Given the description of an element on the screen output the (x, y) to click on. 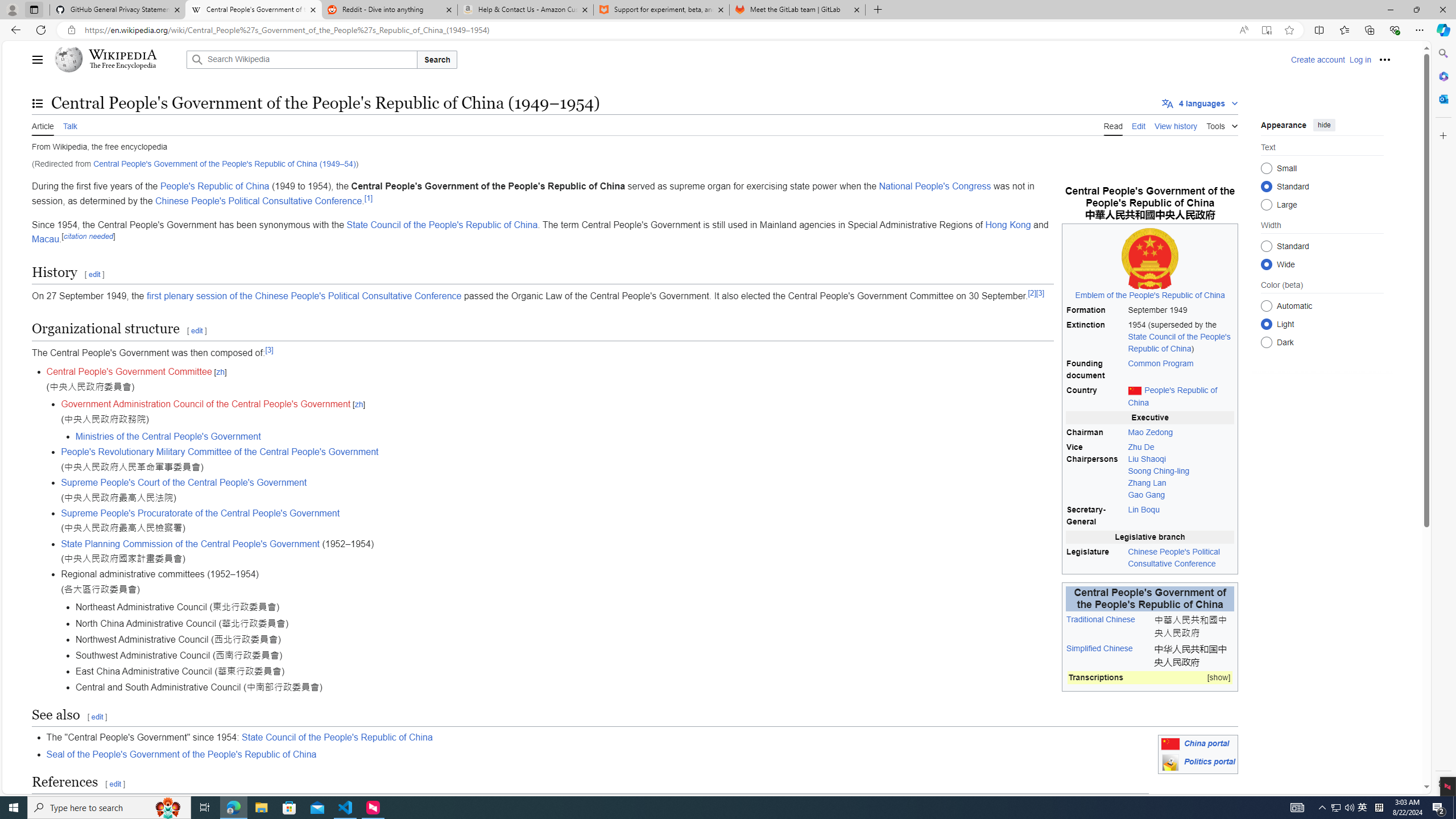
Wikipedia The Free Encyclopedia (117, 59)
Main menu (37, 59)
Automatic (1266, 305)
State Planning Commission of the Central People's Government (190, 543)
Meet the GitLab team | GitLab (797, 9)
Article (42, 124)
Chinese People's Political Consultative Conference (1180, 557)
Gao Gang (1146, 494)
